Given the description of an element on the screen output the (x, y) to click on. 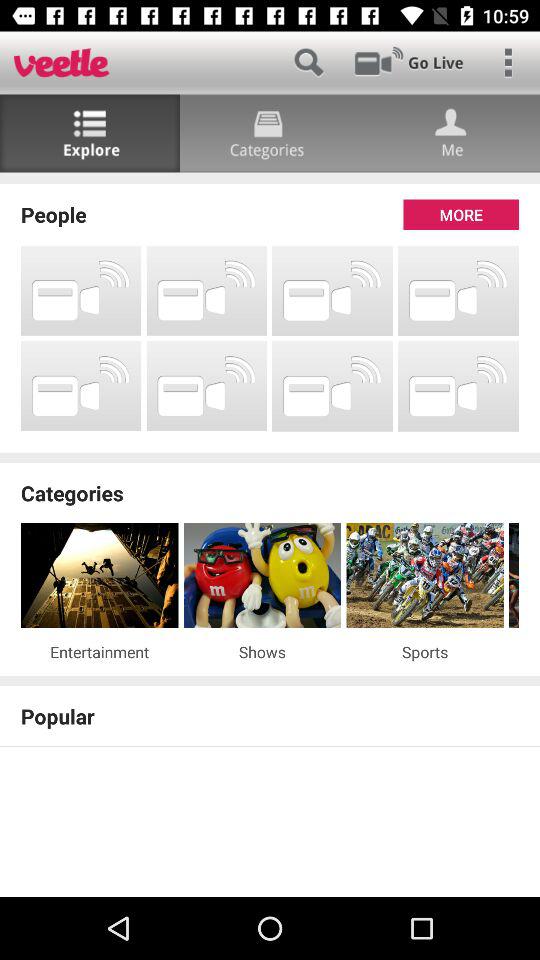
turn off app below the categories app (514, 575)
